Given the description of an element on the screen output the (x, y) to click on. 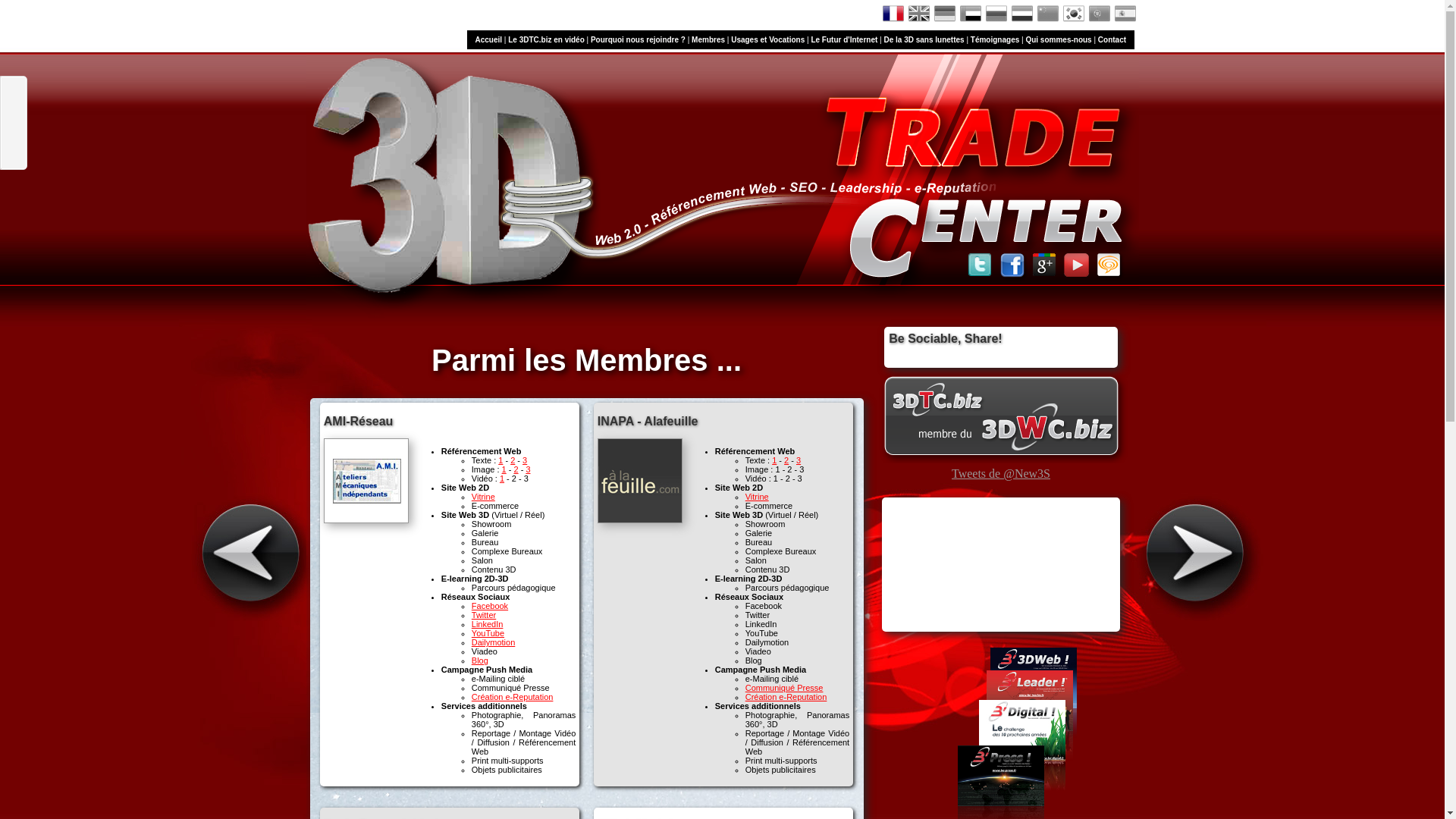
3 Element type: text (524, 459)
3 Element type: text (798, 459)
1 Element type: text (500, 459)
Vitrine Element type: text (483, 496)
LinkedIn Element type: text (487, 623)
De la 3D sans lunettes Element type: text (923, 39)
Tweets de @New3S Element type: text (1000, 473)
Blog Element type: text (479, 660)
Twitter Element type: text (483, 614)
Contact Element type: text (1112, 39)
Le Futur d'Internet Element type: text (843, 39)
Suivant Element type: hover (1202, 553)
Dailymotion Element type: text (492, 641)
Usages et Vocations Element type: text (767, 39)
Pourquoi nous rejoindre ? Element type: text (637, 39)
1 Element type: text (504, 468)
3 Element type: text (527, 468)
Accueil Element type: text (488, 39)
1 Element type: text (501, 478)
Facebook Element type: text (489, 605)
Vitrine Element type: text (756, 496)
2 Element type: text (515, 468)
2 Element type: text (512, 459)
YouTube Element type: text (487, 632)
1 Element type: text (773, 459)
2 Element type: text (786, 459)
Qui sommes-nous Element type: text (1058, 39)
Membres Element type: text (707, 39)
